Given the description of an element on the screen output the (x, y) to click on. 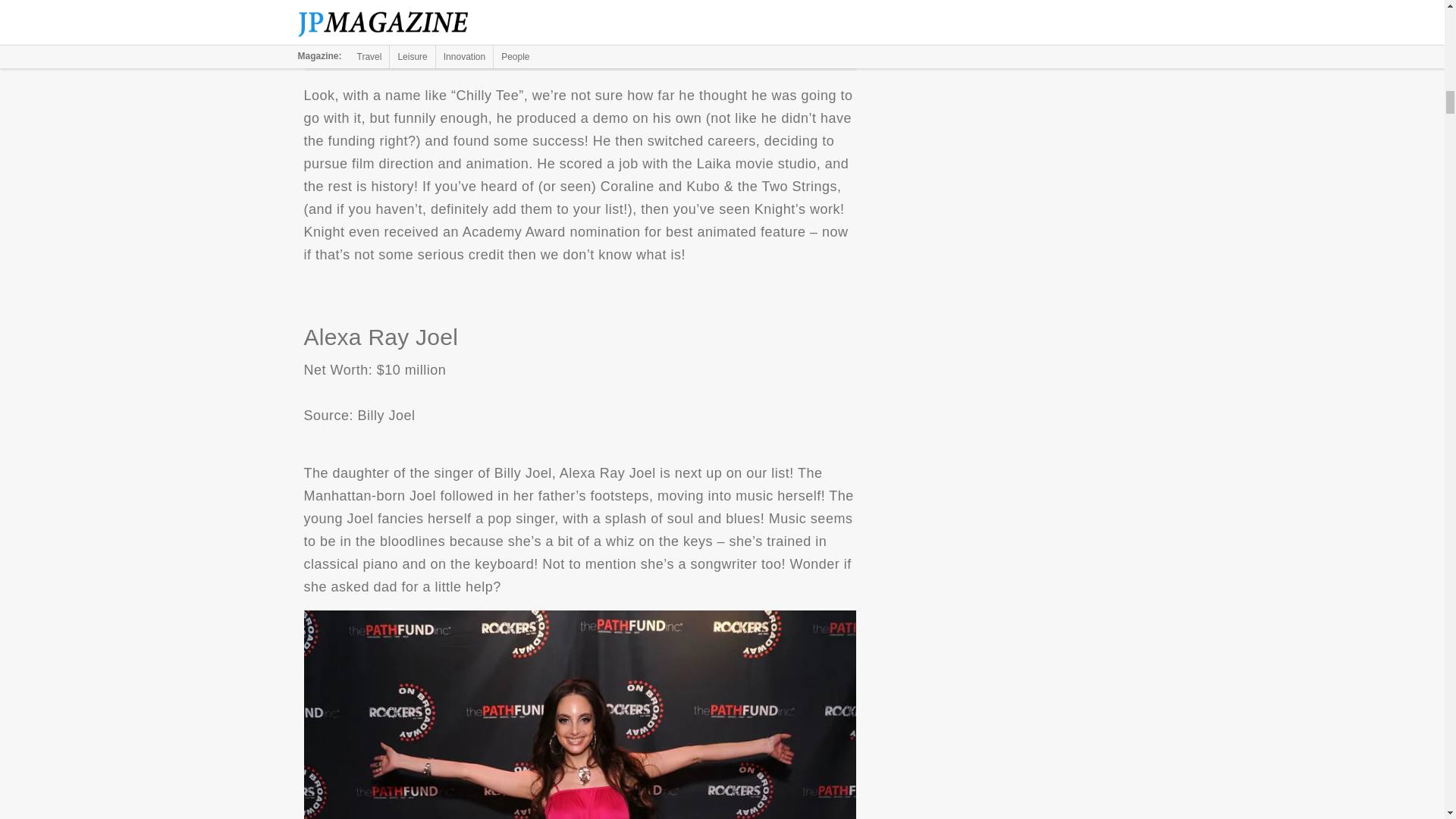
Alexa Ray Joel (579, 714)
Travis Knight (579, 28)
